Given the description of an element on the screen output the (x, y) to click on. 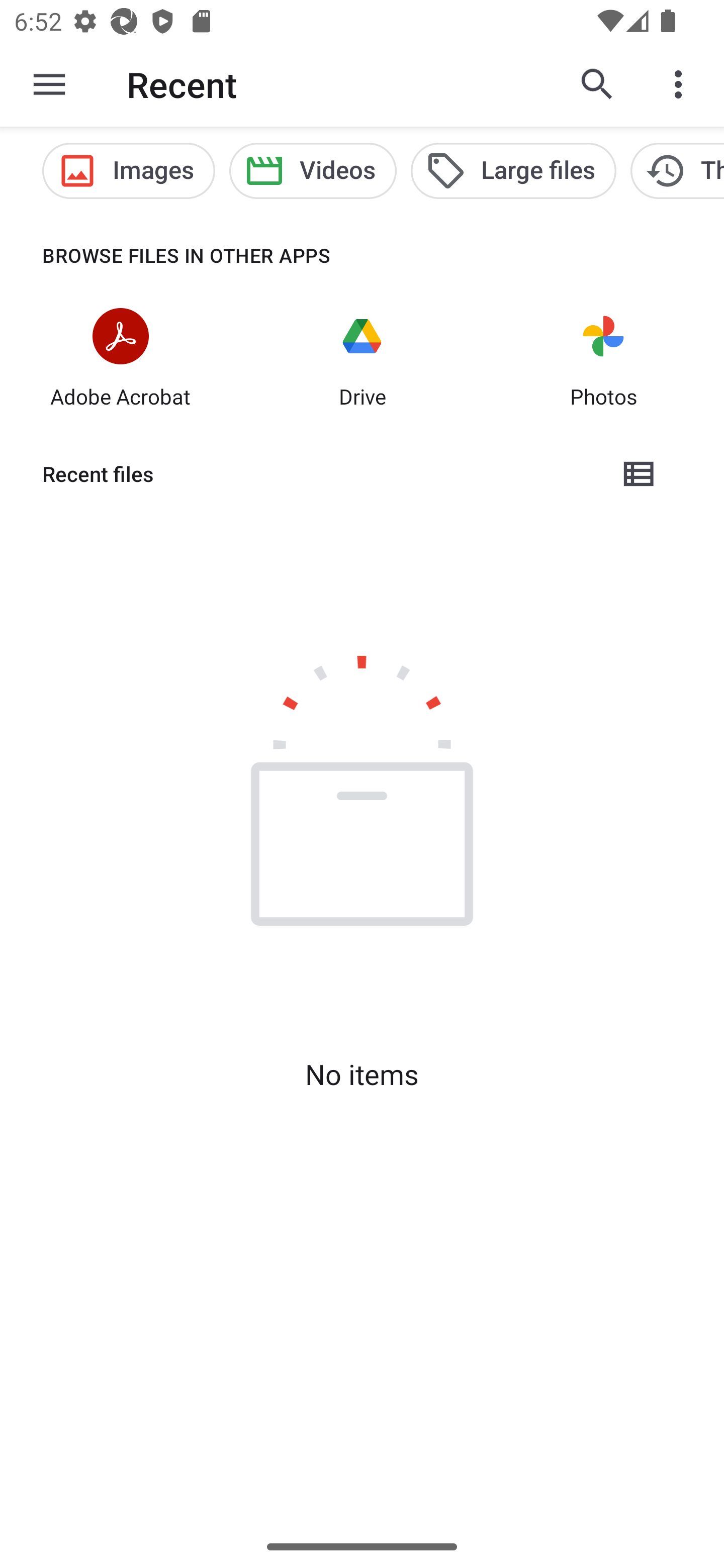
Show roots (49, 84)
Search (597, 84)
More options (681, 84)
Images (128, 170)
Videos (312, 170)
Large files (513, 170)
Adobe Acrobat (120, 359)
Drive (361, 359)
Photos (603, 359)
List view (639, 473)
